Given the description of an element on the screen output the (x, y) to click on. 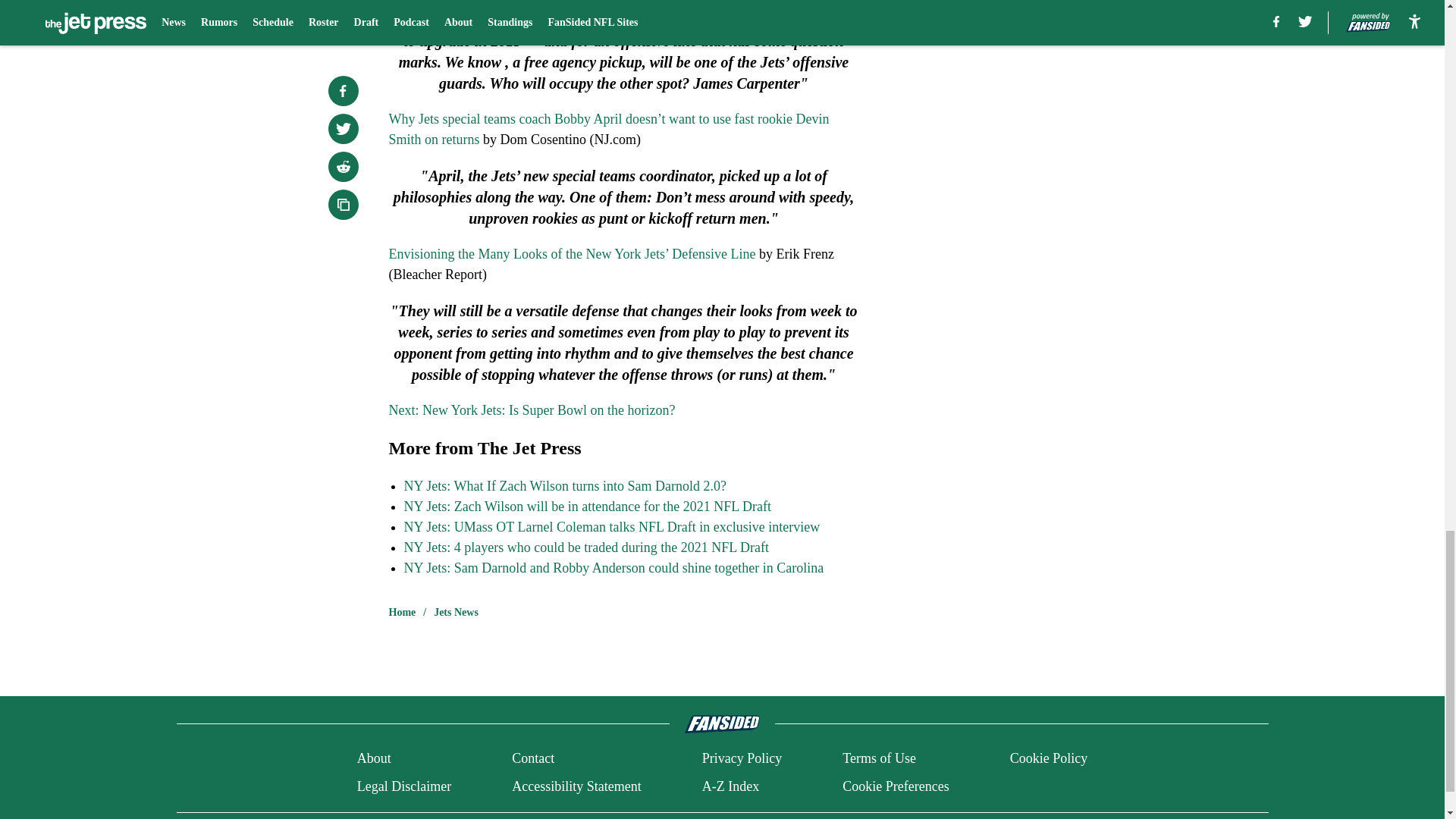
Next: New York Jets: Is Super Bowl on the horizon? (531, 409)
Privacy Policy (742, 758)
Contact (533, 758)
About (373, 758)
Jets News (456, 612)
Home (401, 612)
NY Jets: What If Zach Wilson turns into Sam Darnold 2.0? (564, 485)
